Given the description of an element on the screen output the (x, y) to click on. 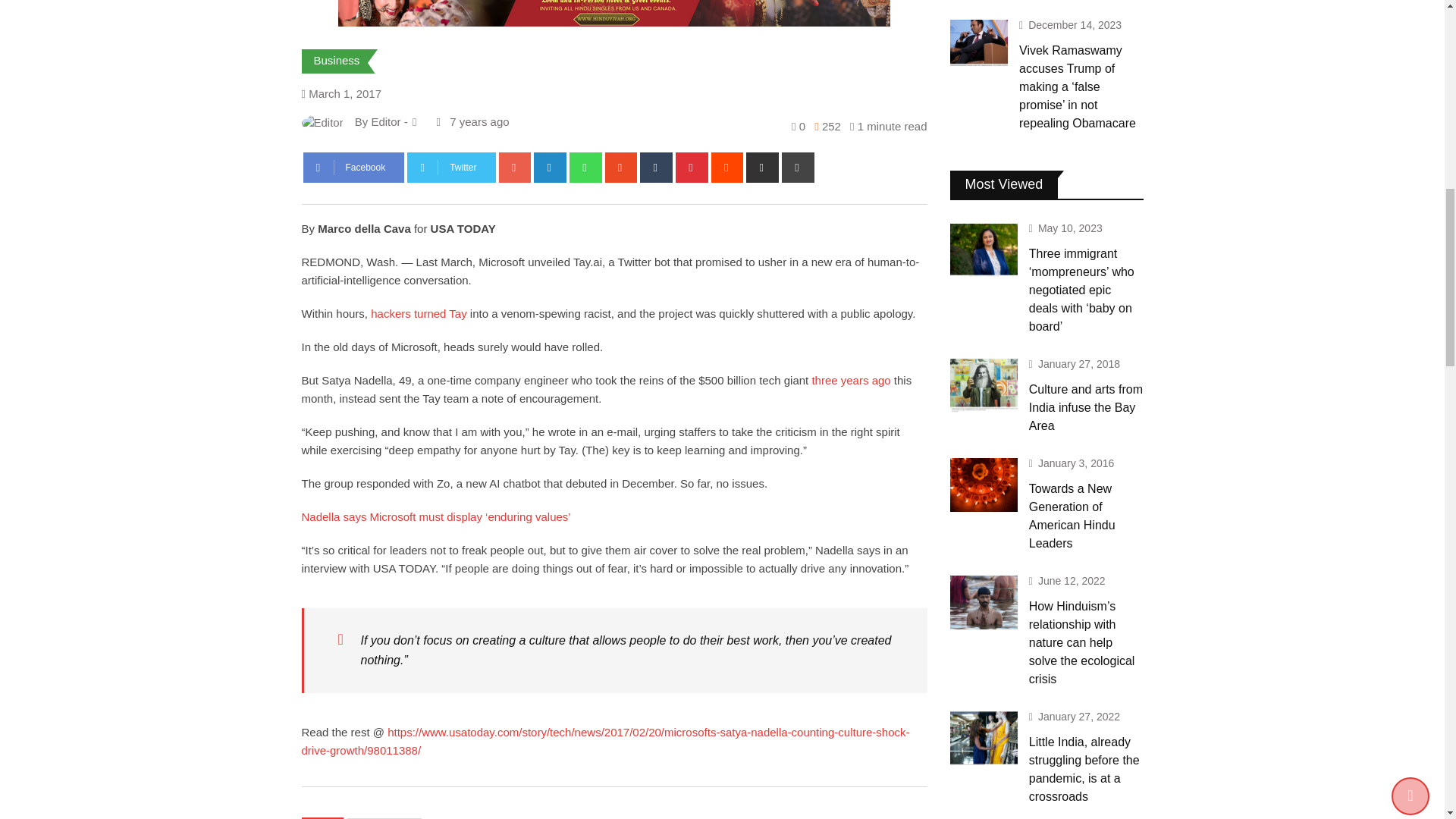
Business (336, 60)
Twitter (451, 167)
LinkedIn (550, 167)
Pinterest (691, 167)
Editor (385, 121)
StumbleUpon (621, 167)
Facebook (353, 167)
Tumblr (656, 167)
Whatsapp (585, 167)
